Given the description of an element on the screen output the (x, y) to click on. 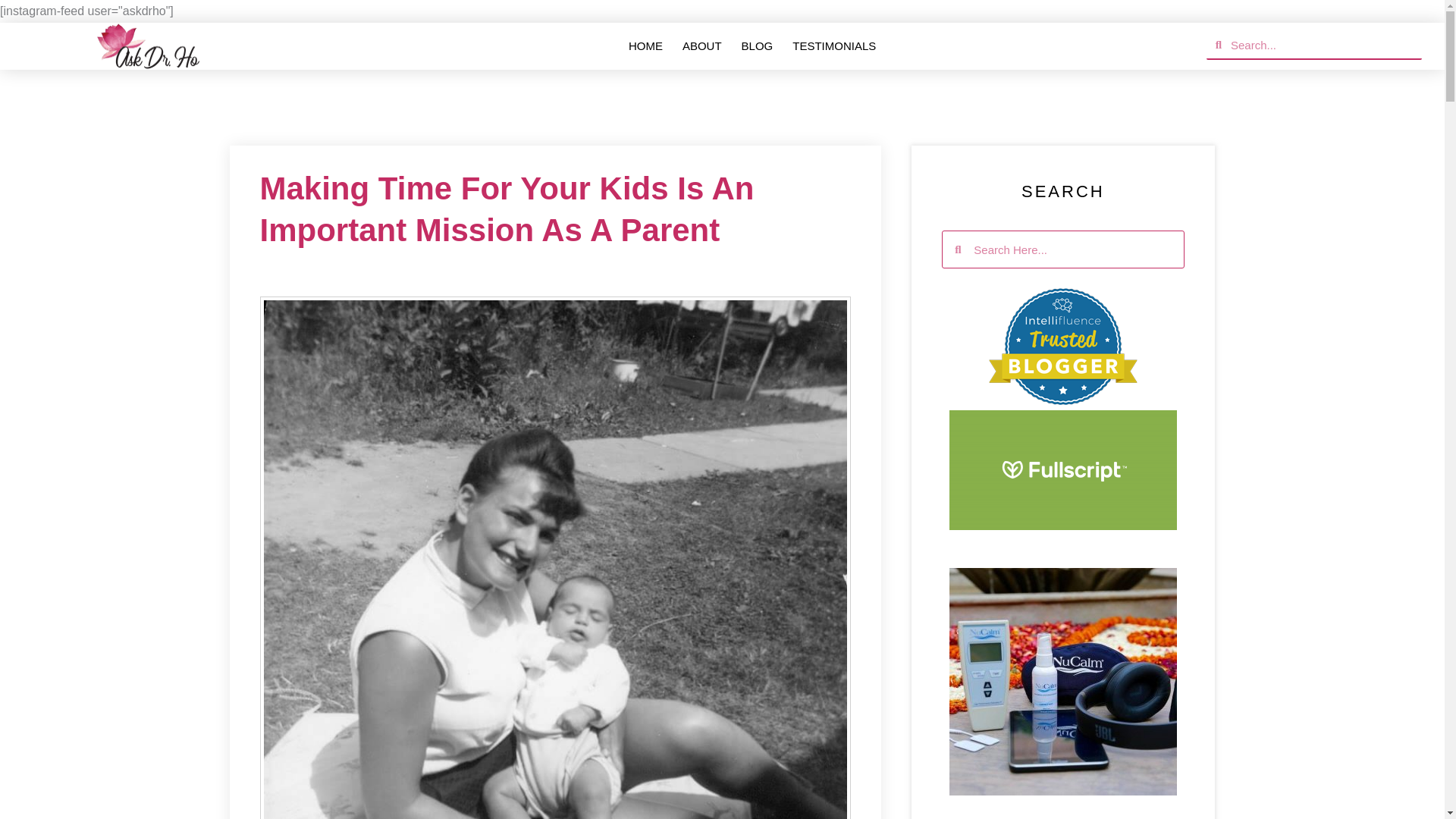
Search (1321, 45)
TESTIMONIALS (833, 45)
HOME (645, 45)
BLOG (756, 45)
Search (1071, 248)
ABOUT (702, 45)
